Given the description of an element on the screen output the (x, y) to click on. 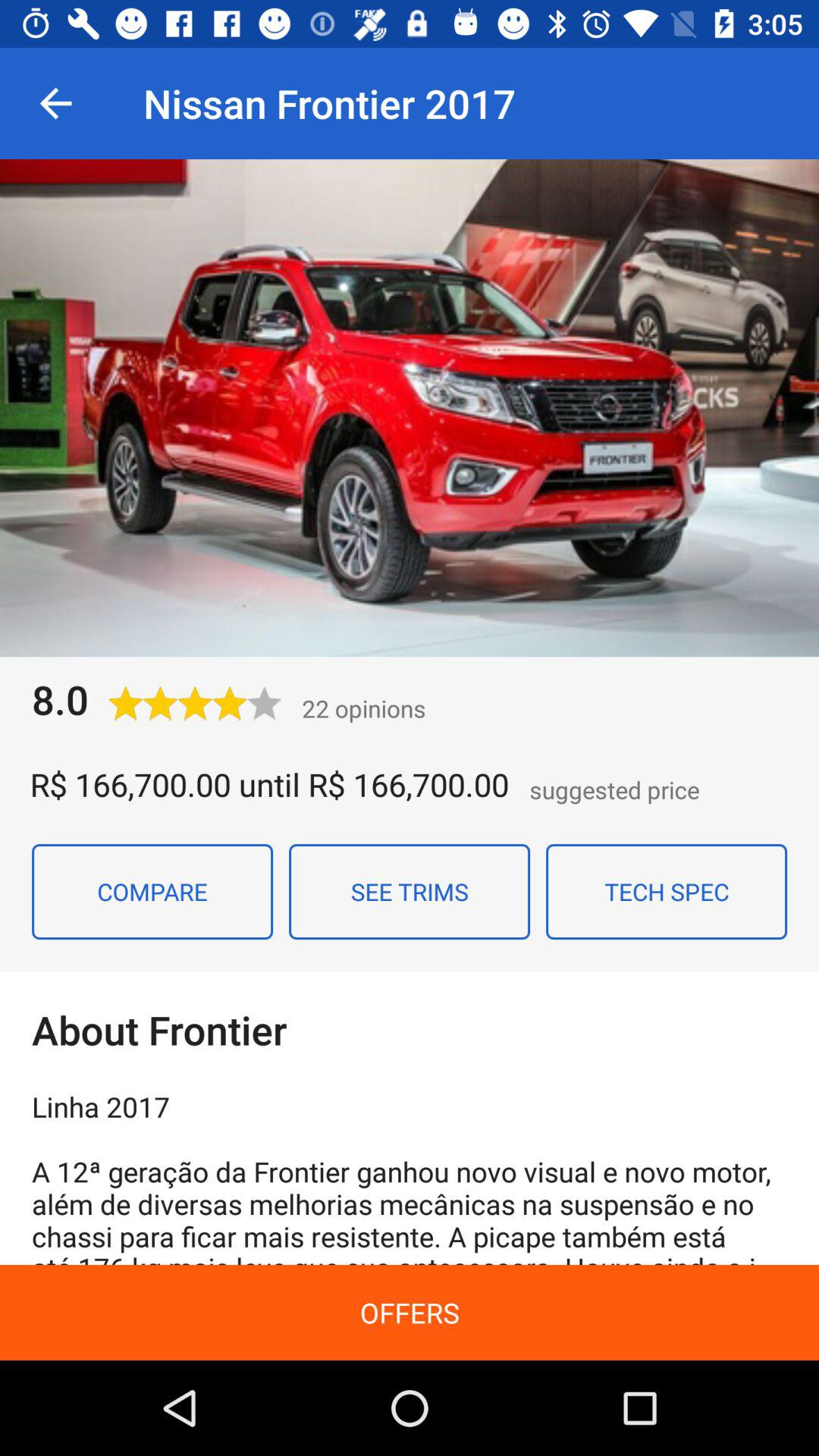
turn off the icon to the left of the nissan frontier 2017 icon (55, 103)
